Given the description of an element on the screen output the (x, y) to click on. 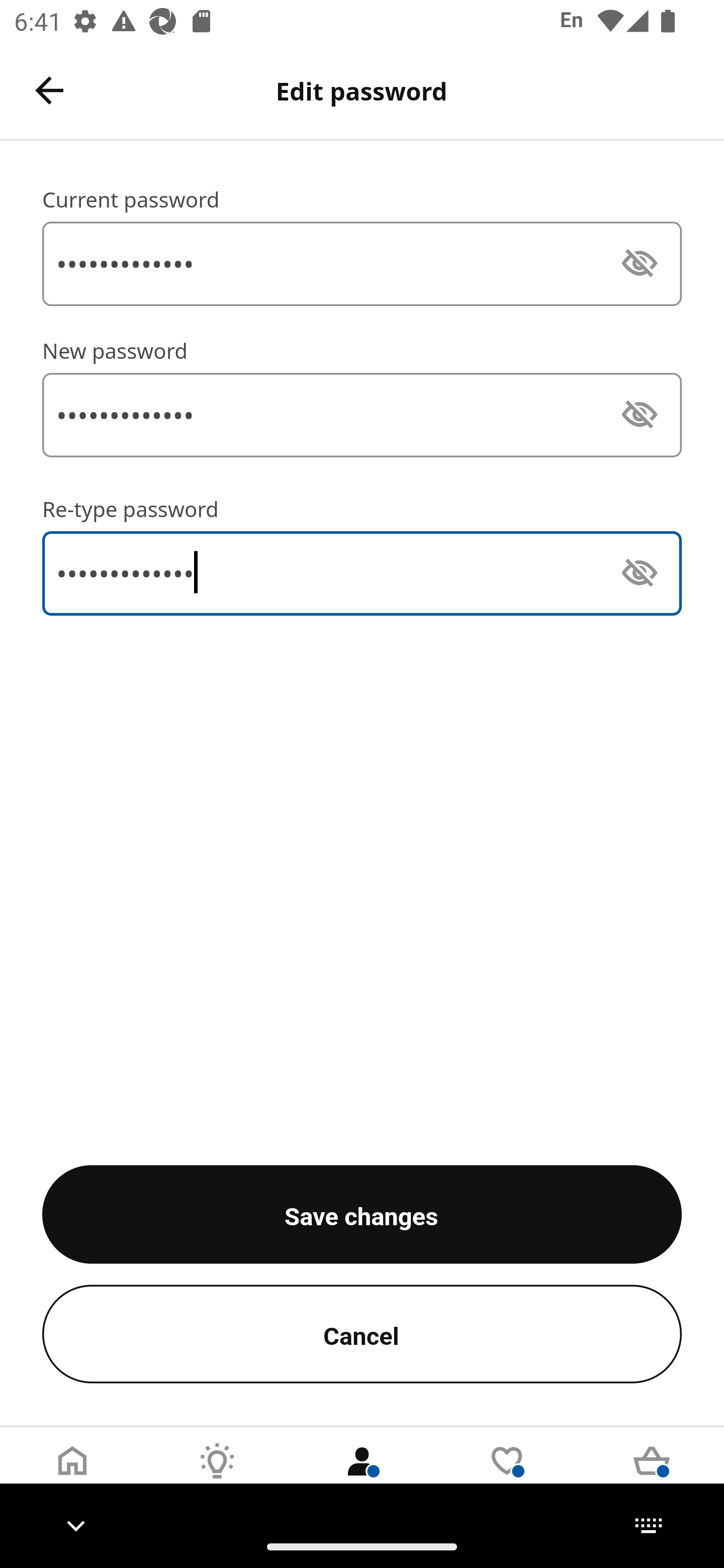
••••••••••••• (361, 263)
••••••••••••• (361, 415)
••••••••••••• (361, 573)
Save changes (361, 1214)
Cancel (361, 1333)
Home
Tab 1 of 5 (72, 1476)
Inspirations
Tab 2 of 5 (216, 1476)
User
Tab 3 of 5 (361, 1476)
Wishlist
Tab 4 of 5 (506, 1476)
Cart
Tab 5 of 5 (651, 1476)
